Given the description of an element on the screen output the (x, y) to click on. 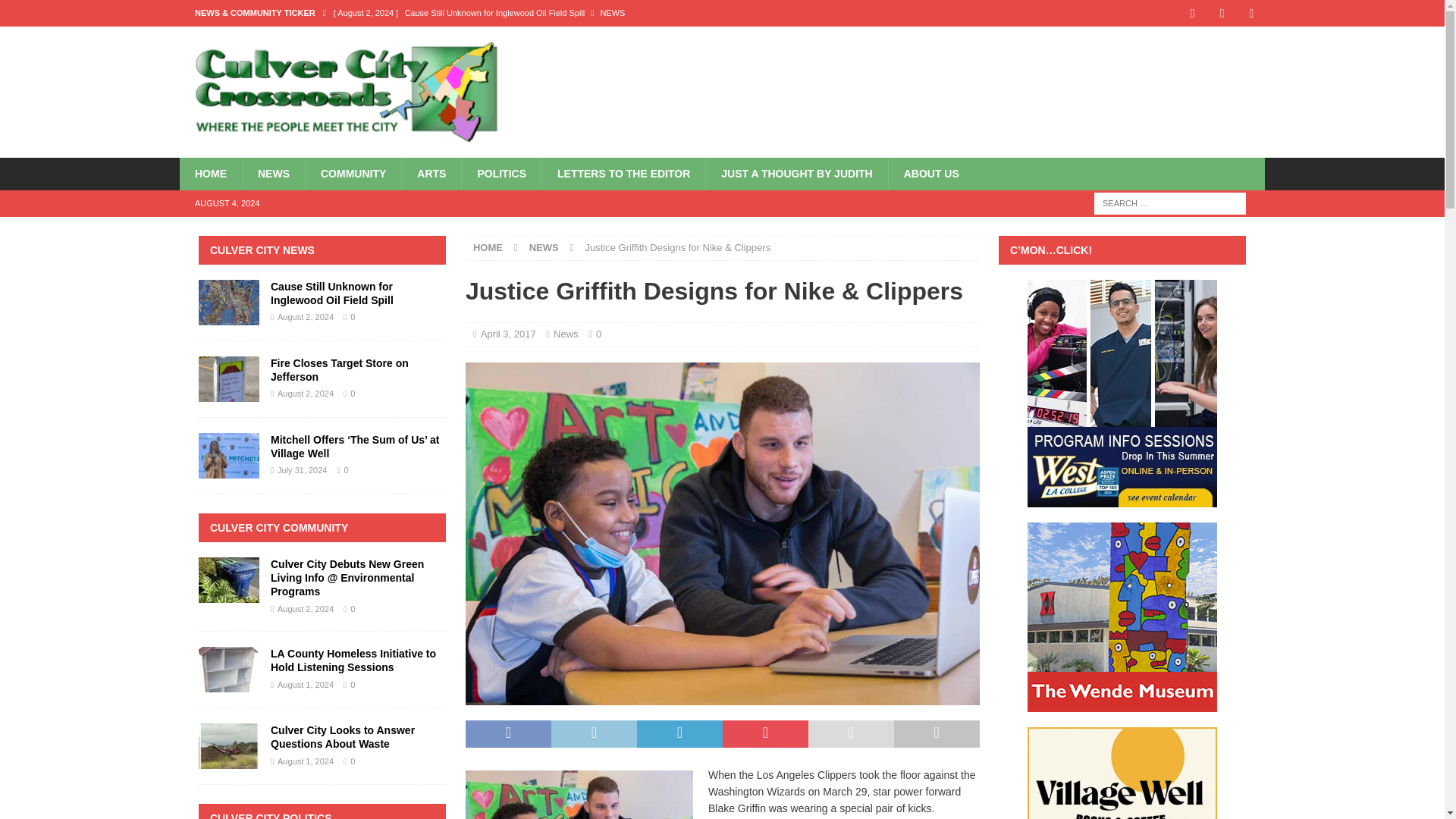
LETTERS TO THE EDITOR (622, 173)
News (565, 333)
COMMUNITY (352, 173)
HOME (210, 173)
NEWS (544, 247)
POLITICS (501, 173)
Cause Still Unknown for Inglewood Oil Field Spill (606, 12)
Search (56, 11)
HOME (487, 247)
ABOUT US (931, 173)
NEWS (272, 173)
JUST A THOUGHT BY JUDITH (795, 173)
April 3, 2017 (507, 333)
ARTS (431, 173)
